Given the description of an element on the screen output the (x, y) to click on. 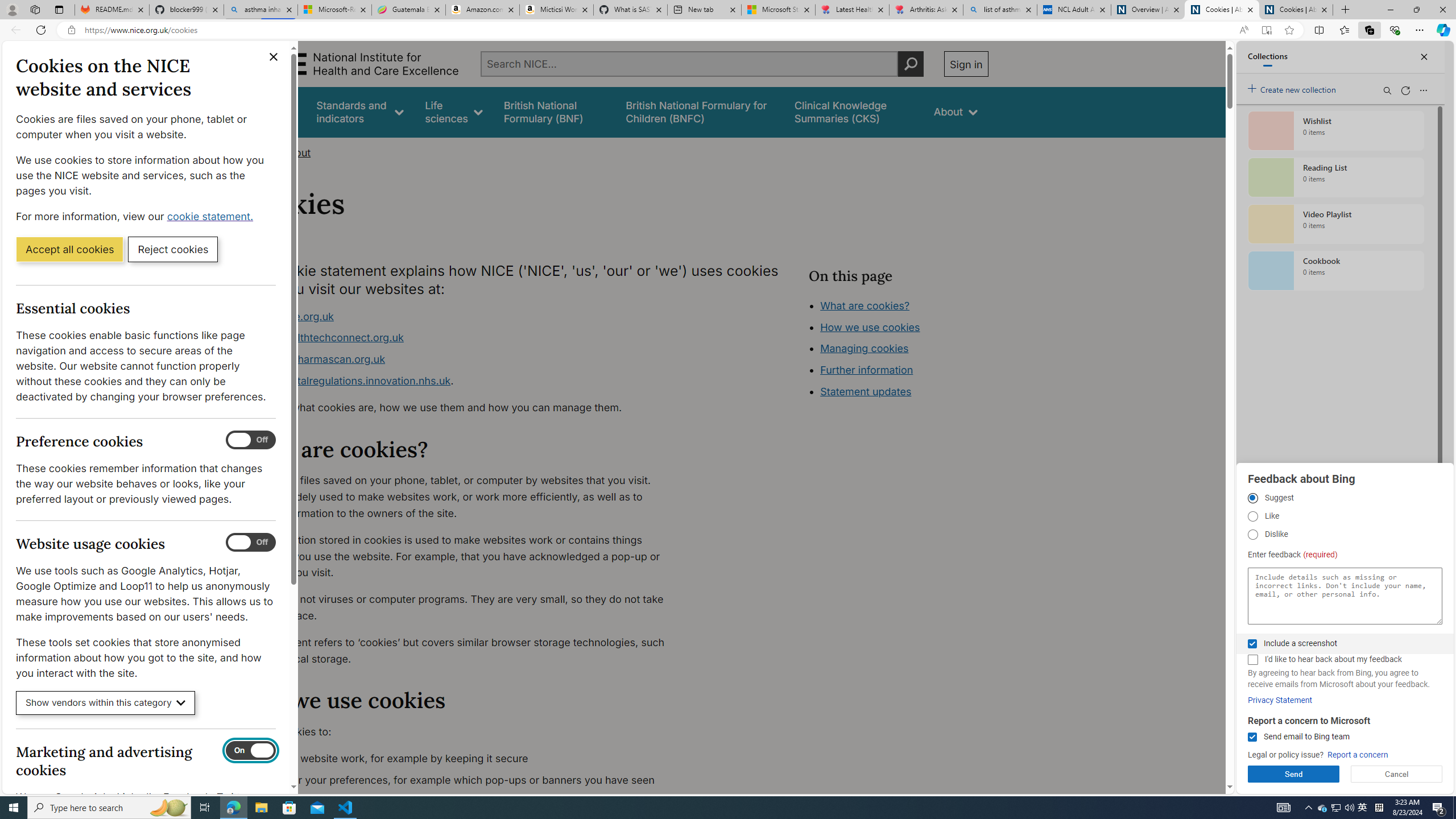
I'd like to hear back about my feedback (1252, 659)
Cancel (1396, 773)
www.nice.org.uk (464, 316)
false (853, 111)
Include a screenshot (1251, 643)
www.healthtechconnect.org.uk (327, 337)
